Given the description of an element on the screen output the (x, y) to click on. 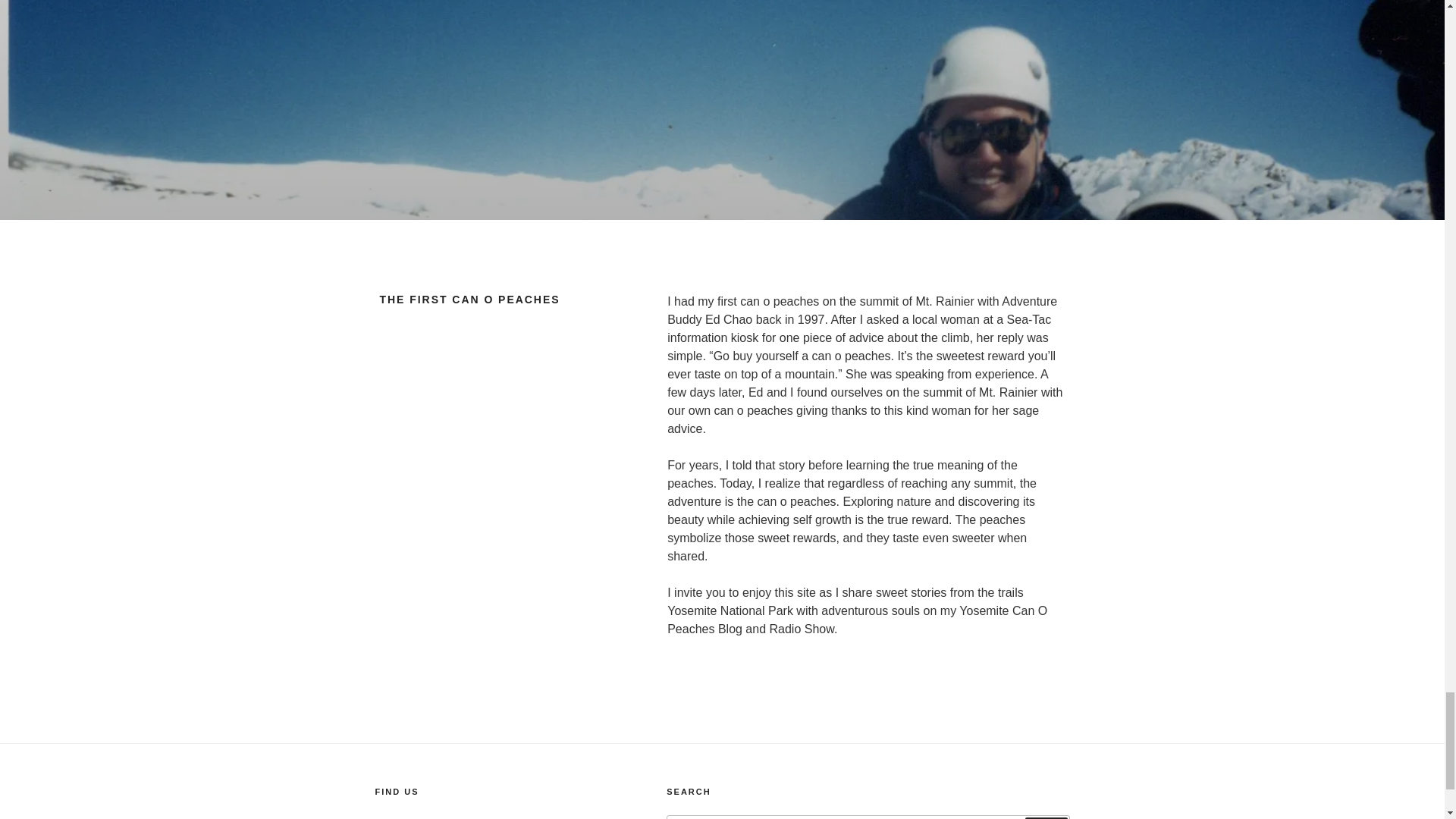
Search (1046, 818)
